Given the description of an element on the screen output the (x, y) to click on. 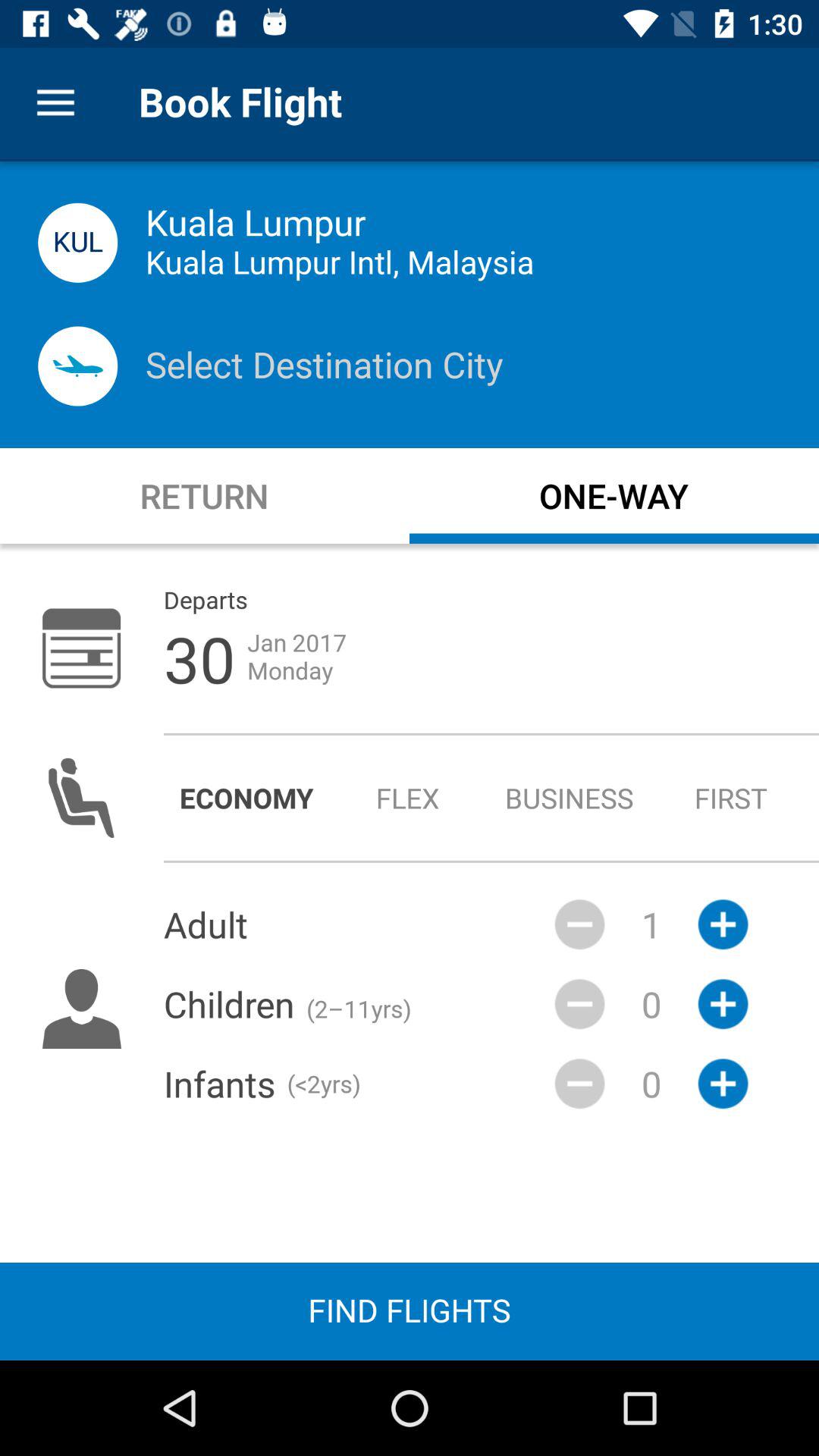
choose radio button to the right of the flex radio button (569, 797)
